Given the description of an element on the screen output the (x, y) to click on. 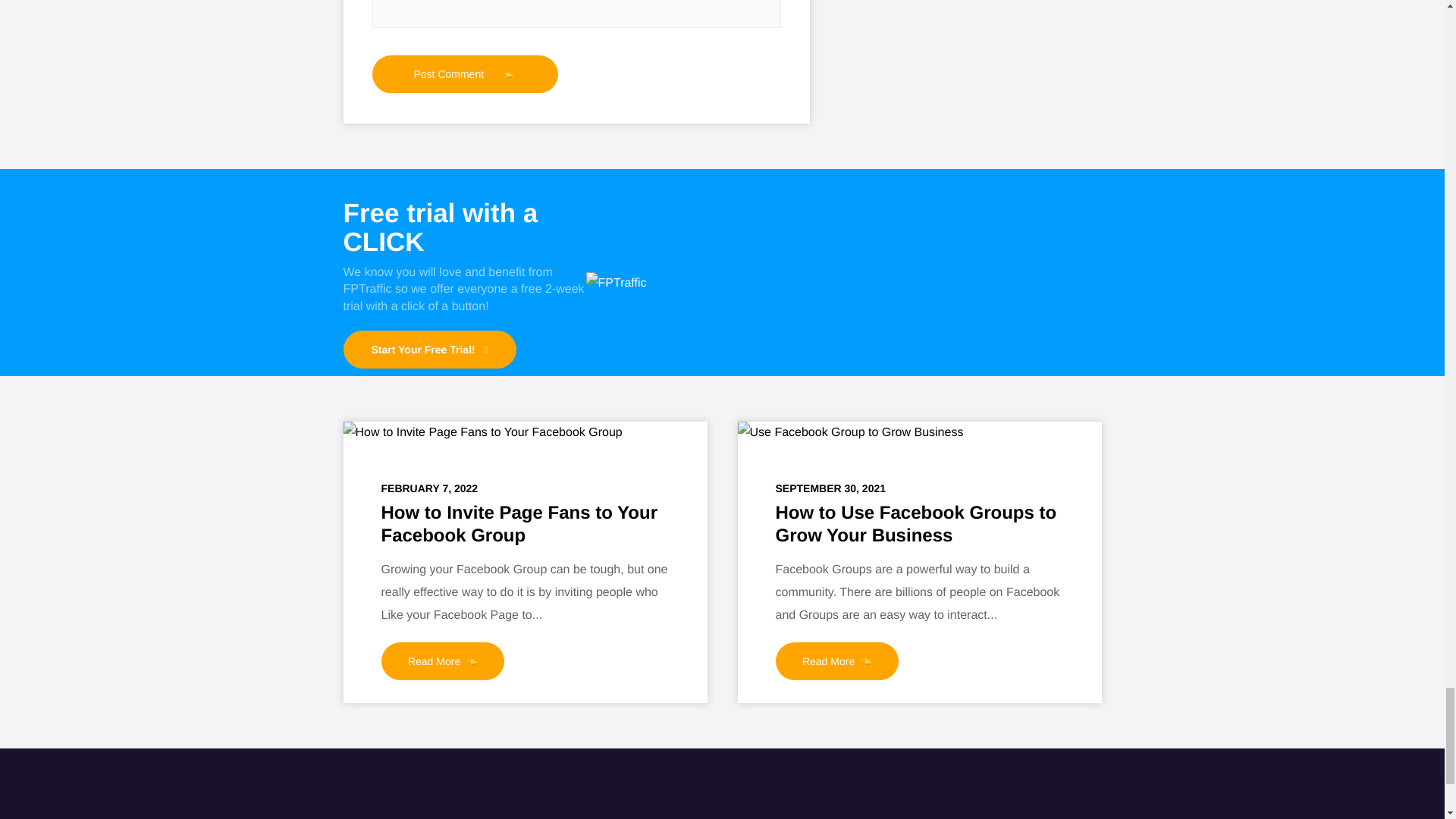
How to Invite Page Fans to Your Facebook Group (481, 432)
How to Invite Page Fans to Your Facebook Group (519, 524)
Post Comment (464, 74)
How to Use Facebook Groups to Grow Your Business (849, 432)
Read More (836, 661)
Start Your Free Trial!   (428, 349)
How to Use Facebook Groups to Grow Your Business (915, 524)
Read More (441, 661)
Post Comment (464, 74)
